Given the description of an element on the screen output the (x, y) to click on. 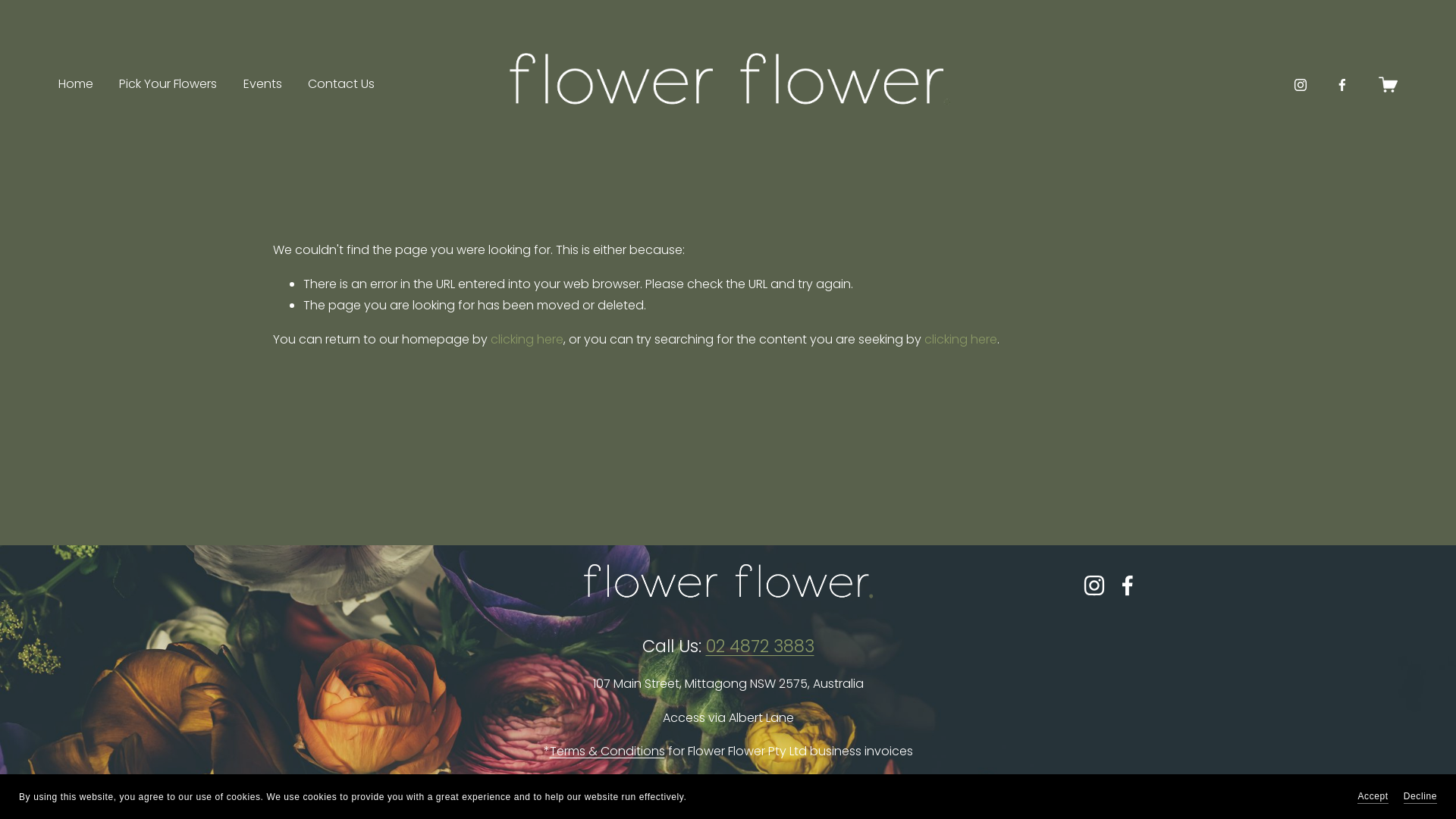
Events Element type: text (262, 84)
Terms & Conditions Element type: text (606, 751)
Pick Your Flowers Element type: text (167, 84)
clicking here Element type: text (960, 339)
Accept Element type: text (1372, 796)
Contact Us Element type: text (340, 84)
02 4872 3883 Element type: text (759, 645)
Home Element type: text (75, 84)
clicking here Element type: text (526, 339)
Decline Element type: text (1420, 796)
